Given the description of an element on the screen output the (x, y) to click on. 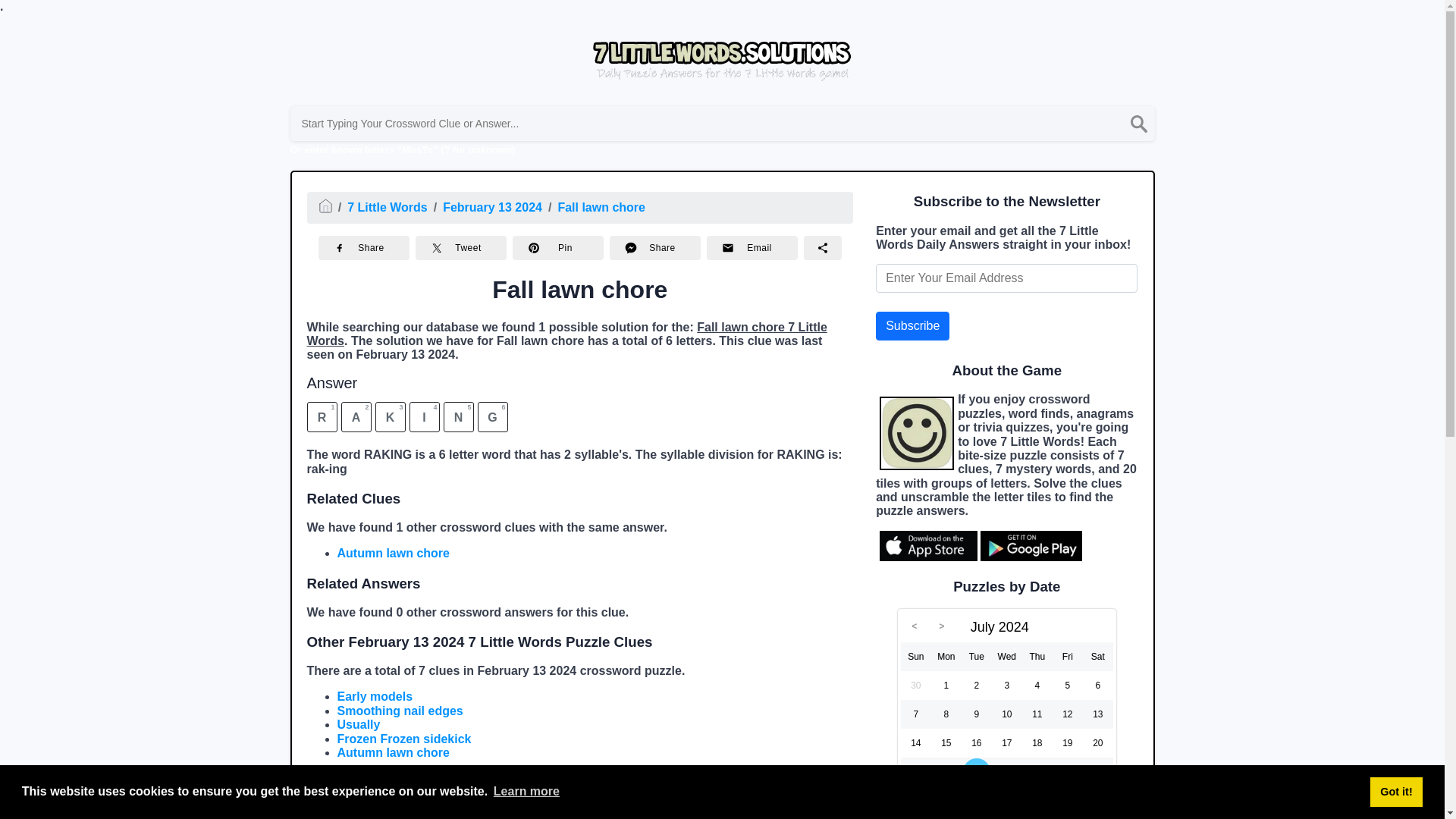
Frozen Frozen sidekick (403, 738)
Autumn lawn chore (392, 553)
Fall lawn chore (601, 206)
Got it! (1396, 791)
Usually (358, 724)
Autumn lawn chore (392, 752)
Smoothing nail edges (399, 710)
Subscribe (912, 326)
7 Little Words February 13 2024 Answers (468, 792)
Learn more (527, 791)
Early models (374, 696)
7 Little Words (387, 206)
Subscribe (912, 326)
February 13 2024 (491, 206)
